Given the description of an element on the screen output the (x, y) to click on. 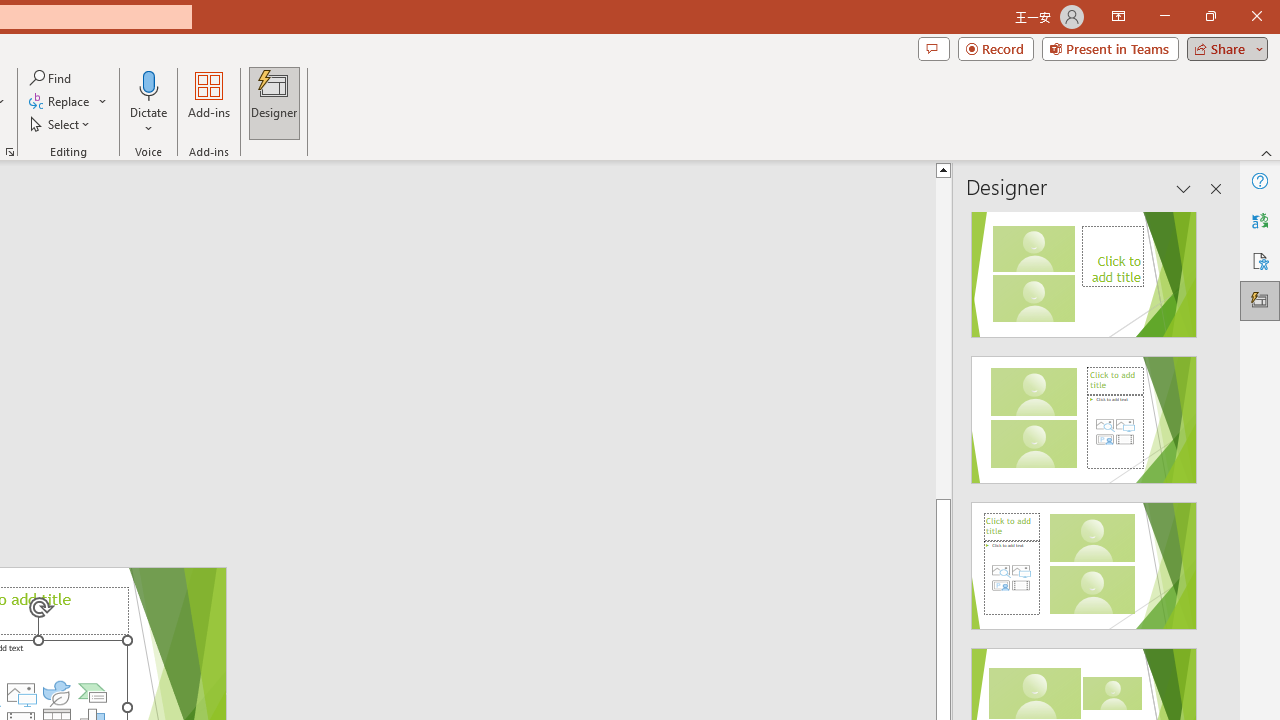
Pictures (21, 692)
Insert a SmartArt Graphic (92, 692)
Recommended Design: Design Idea (1083, 268)
